Given the description of an element on the screen output the (x, y) to click on. 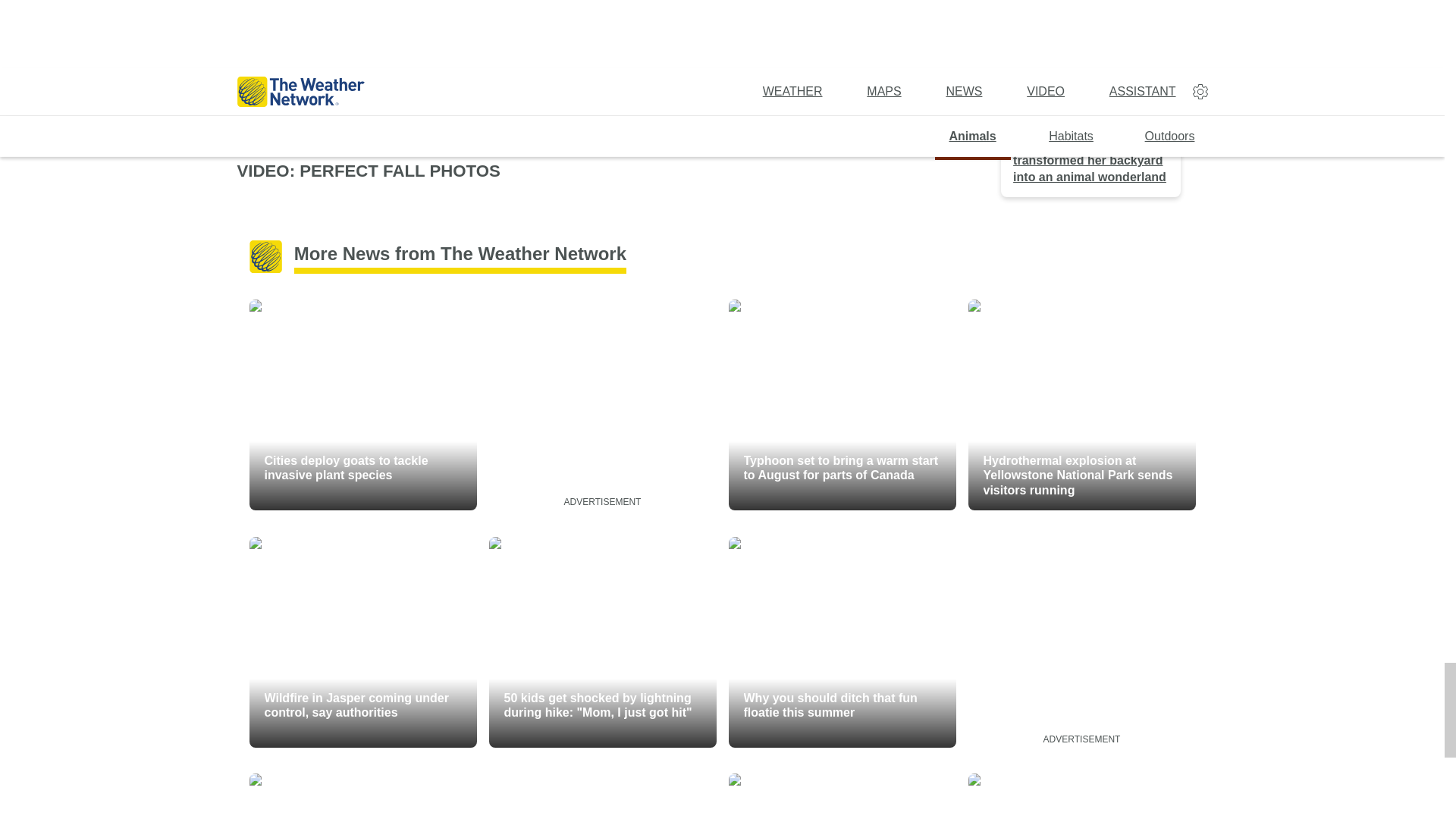
Why you should ditch that fun floatie this summer (841, 642)
Wildfire in Jasper coming under control, say authorities (362, 642)
Lunch-stealing bear in Whistler gives tourists a surprise (841, 796)
Cities deploy goats to tackle invasive plant species (362, 404)
